Given the description of an element on the screen output the (x, y) to click on. 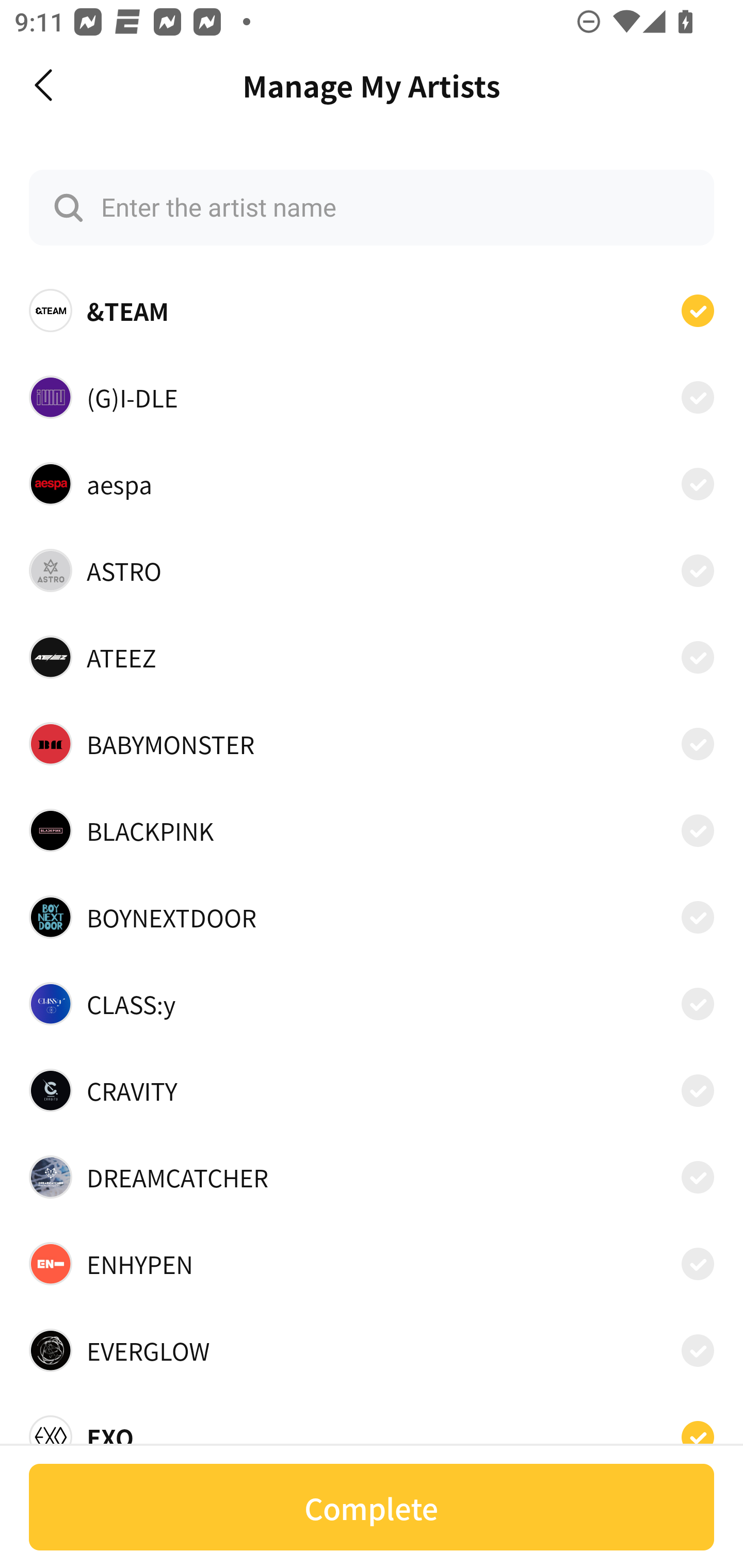
Enter the artist name (371, 207)
&TEAM (371, 310)
(G)I-DLE (371, 396)
aespa (371, 483)
ASTRO (371, 570)
ATEEZ (371, 656)
BABYMONSTER (371, 743)
BLACKPINK (371, 830)
BOYNEXTDOOR (371, 917)
CLASS:y (371, 1003)
CRAVITY (371, 1090)
DREAMCATCHER (371, 1176)
ENHYPEN (371, 1263)
EVERGLOW (371, 1350)
EXO (371, 1430)
Complete (371, 1507)
